Given the description of an element on the screen output the (x, y) to click on. 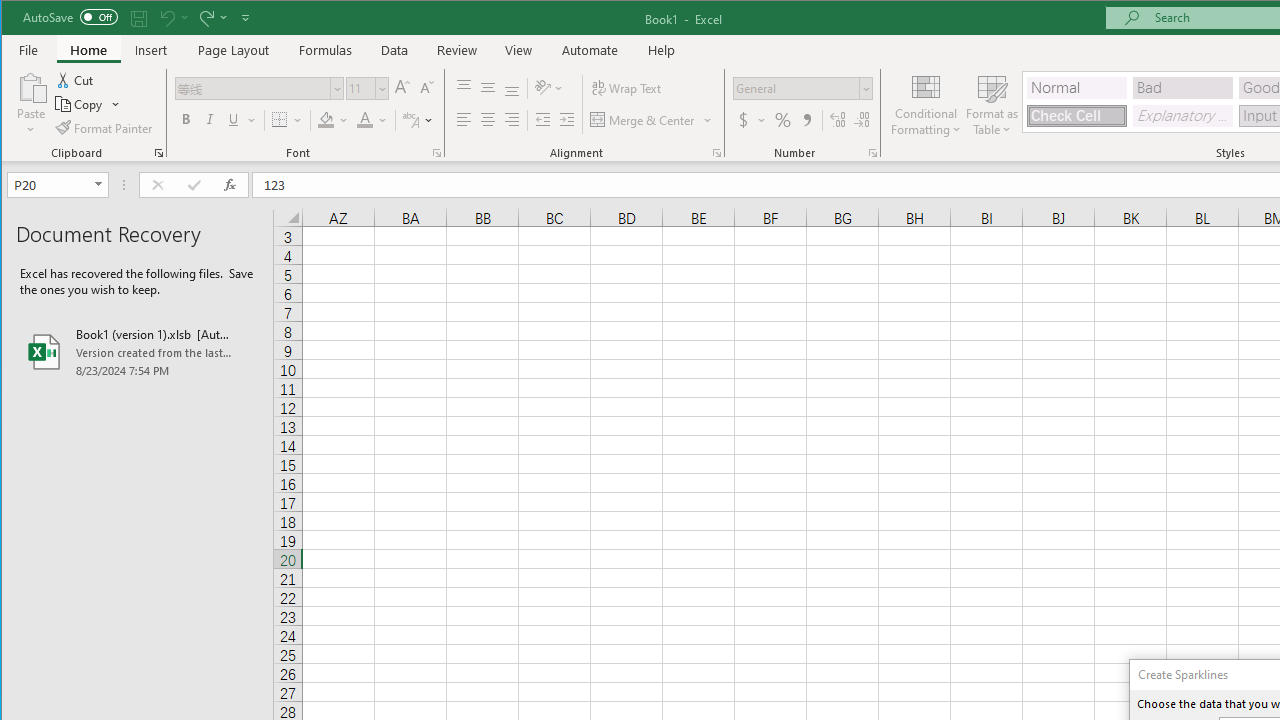
Format as Table (992, 104)
Decrease Indent (543, 119)
Number Format (795, 88)
Middle Align (488, 88)
Align Right (511, 119)
